Given the description of an element on the screen output the (x, y) to click on. 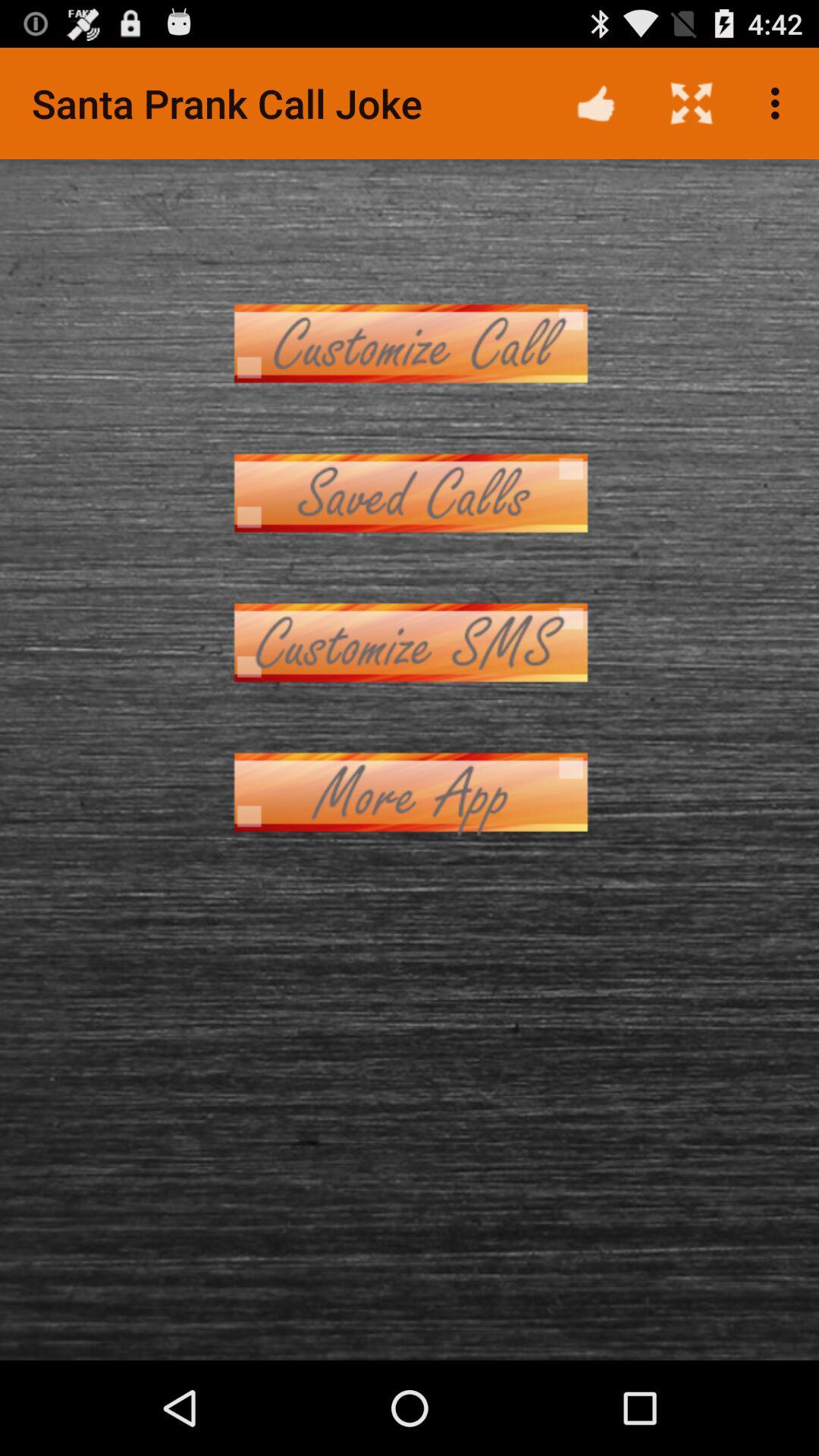
turn off app to the right of santa prank call icon (595, 103)
